Given the description of an element on the screen output the (x, y) to click on. 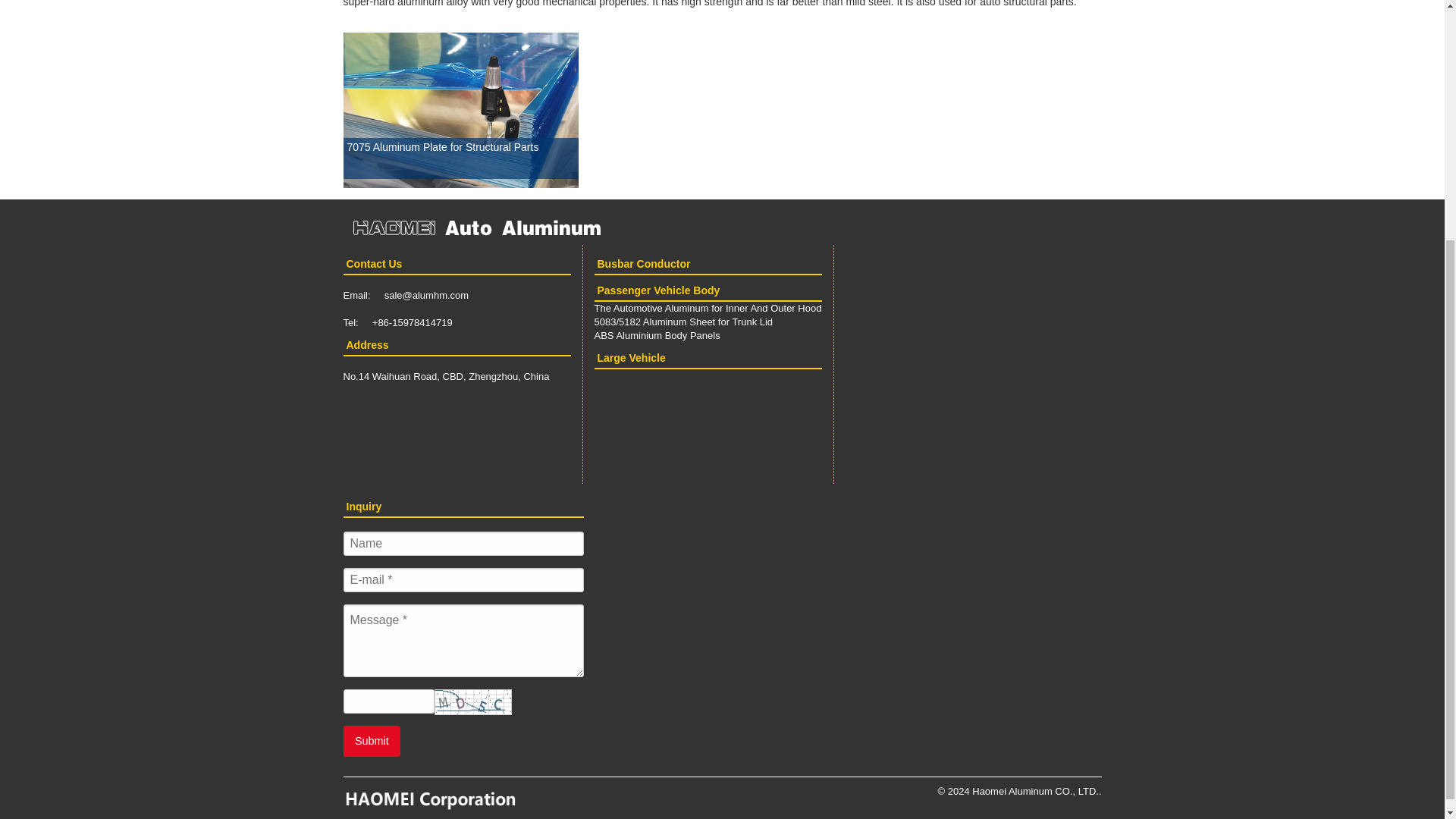
ABS Aluminium Body Panels (657, 335)
The Automotive Aluminum for Inner And Outer Hood (708, 307)
7075 Aluminum Plate for Structural Parts (460, 179)
Submit (371, 740)
Submit (371, 740)
